Given the description of an element on the screen output the (x, y) to click on. 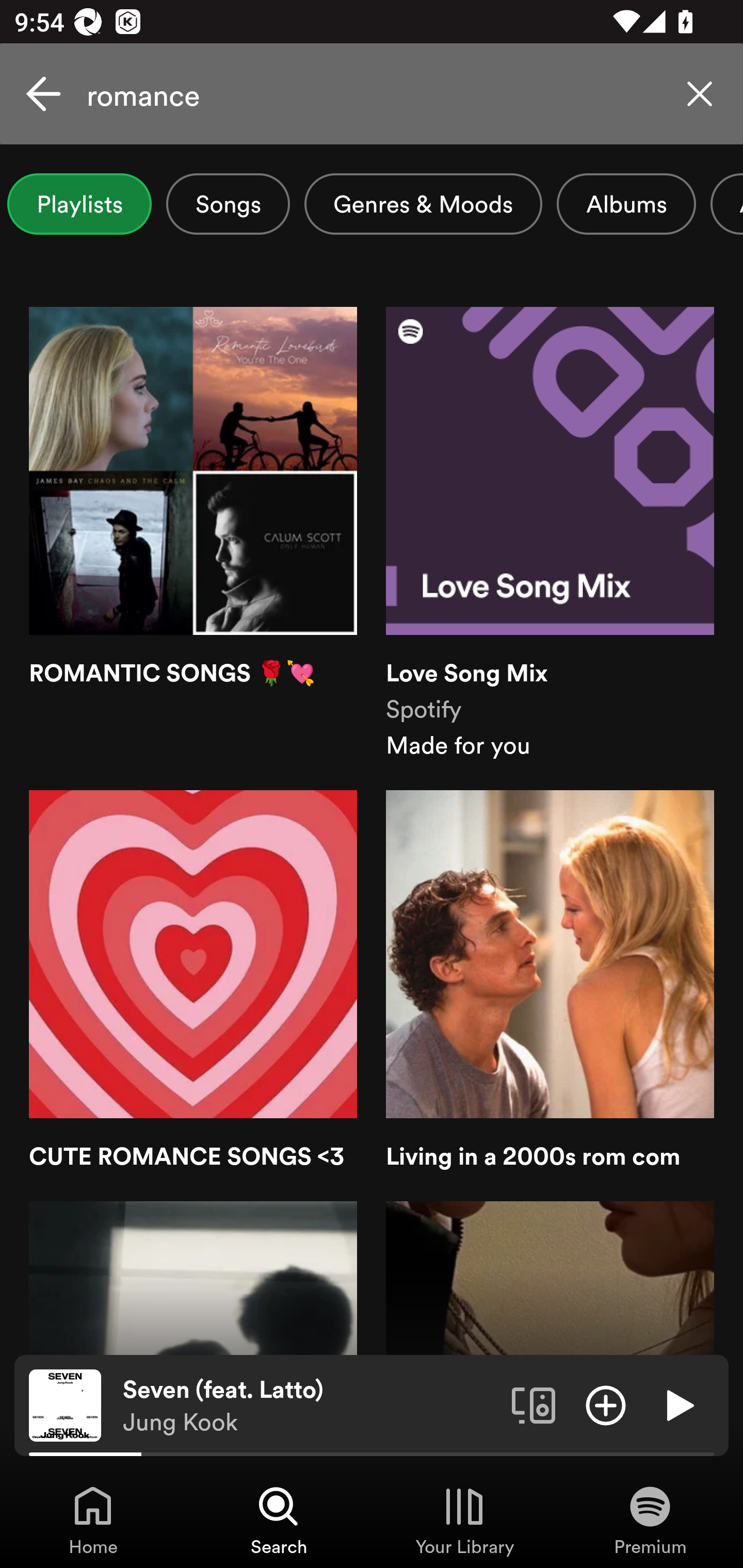
romance (371, 93)
Cancel (43, 93)
Clear search query (699, 93)
Playlists (79, 203)
Songs (227, 203)
Genres & Moods (423, 203)
Albums (626, 203)
Artists (726, 203)
ROMANTIC SONGS 🌹💘 (192, 534)
Love Song Mix Spotify Made for you (549, 534)
CUTE ROMANCE SONGS <3 (192, 981)
Living in a 2000s rom com (549, 981)
Seven (feat. Latto) Jung Kook (309, 1405)
The cover art of the currently playing track (64, 1404)
Connect to a device. Opens the devices menu (533, 1404)
Add item (605, 1404)
Play (677, 1404)
Home, Tab 1 of 4 Home Home (92, 1519)
Search, Tab 2 of 4 Search Search (278, 1519)
Your Library, Tab 3 of 4 Your Library Your Library (464, 1519)
Premium, Tab 4 of 4 Premium Premium (650, 1519)
